Given the description of an element on the screen output the (x, y) to click on. 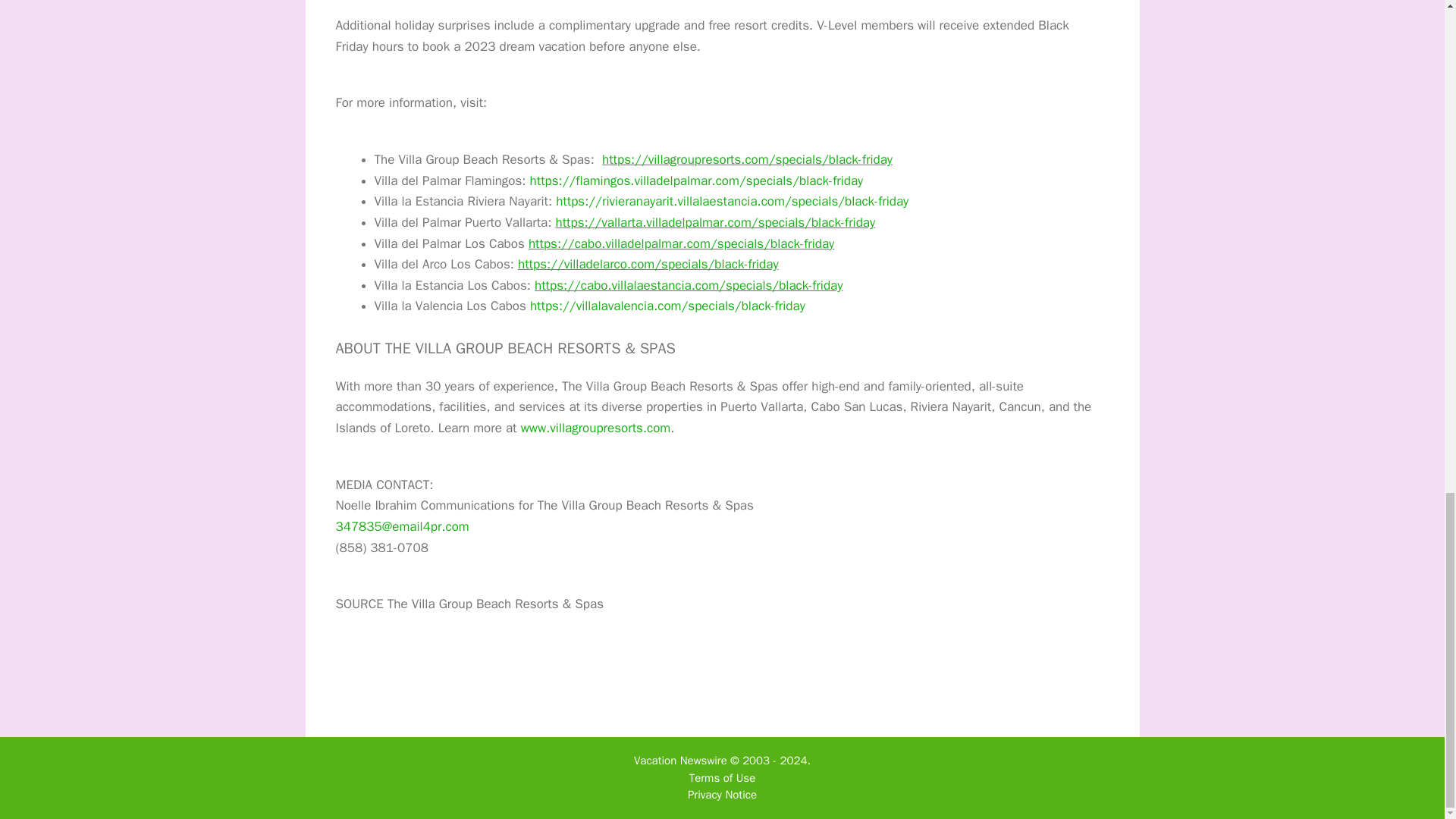
www.villagroupresorts.com (596, 427)
Terms of Use (721, 777)
Privacy Notice (722, 794)
